Given the description of an element on the screen output the (x, y) to click on. 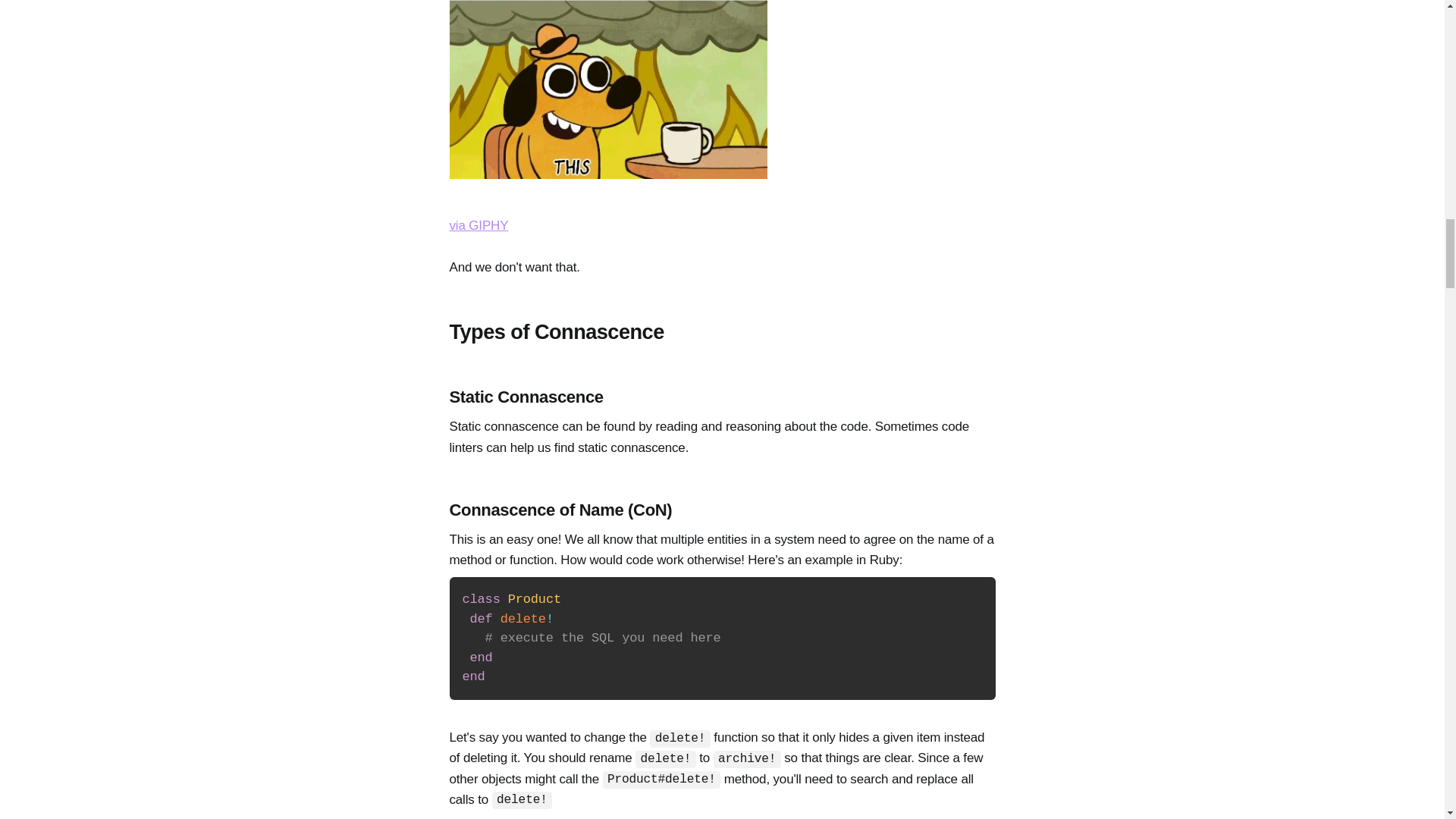
via GIPHY (478, 225)
